Given the description of an element on the screen output the (x, y) to click on. 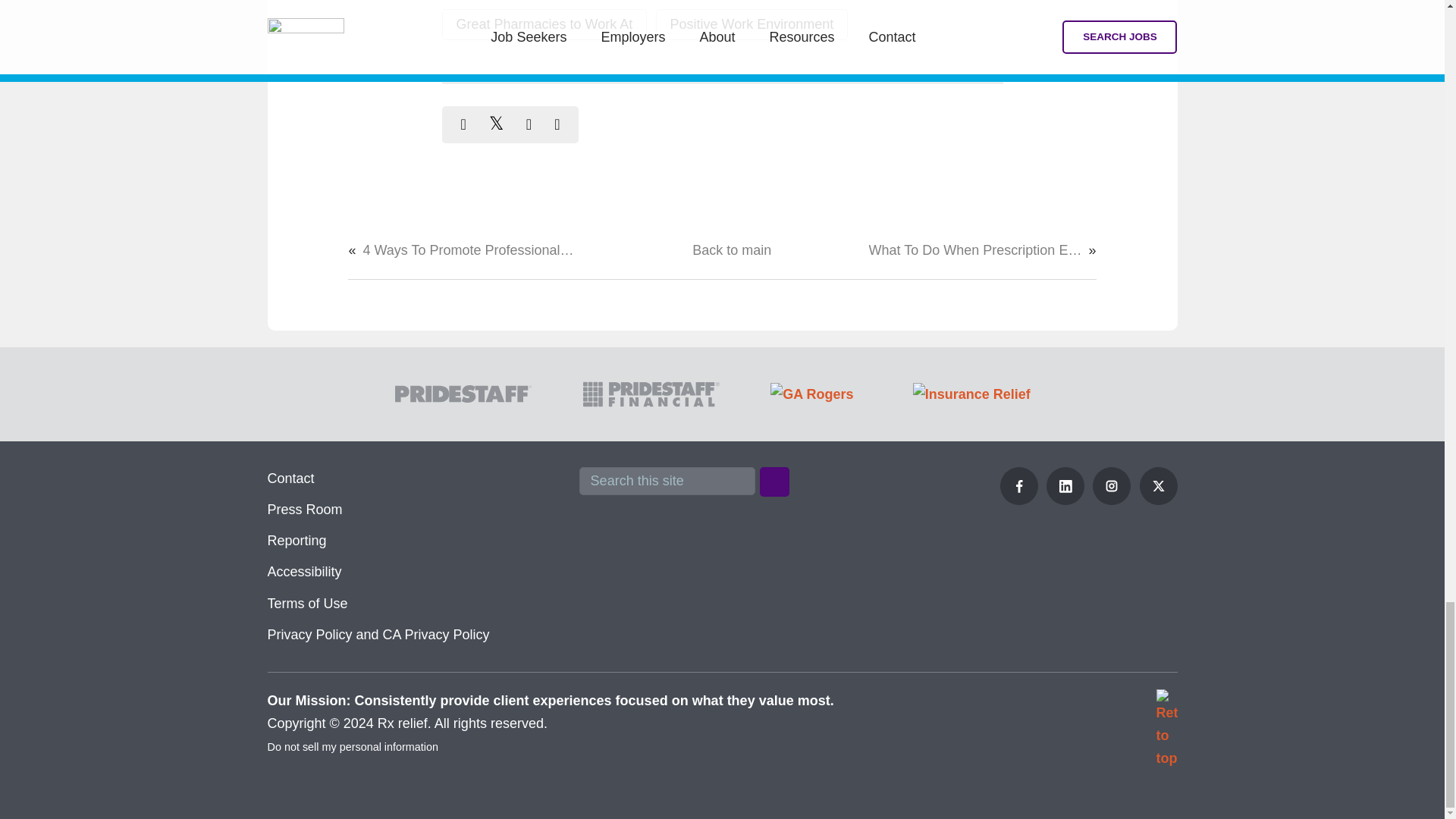
What To Do When Prescription Errors Happen (975, 250)
Great Pharmacies to Work At (543, 24)
Positive Work Environment (752, 24)
Back to main (732, 249)
